Given the description of an element on the screen output the (x, y) to click on. 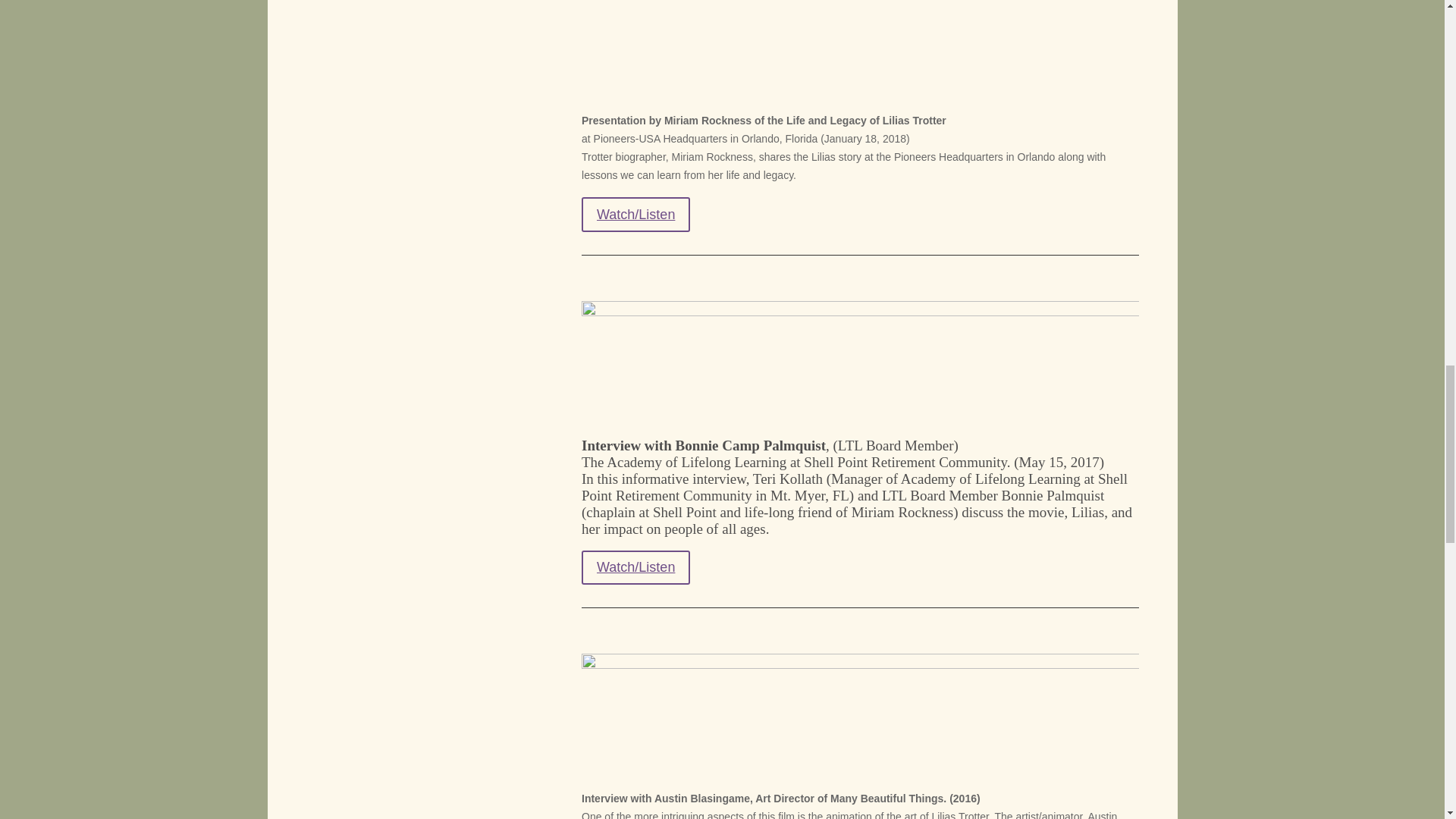
austin-blasingame (859, 715)
bonnie-palmquist (859, 363)
Miriam-rockness (859, 49)
